Given the description of an element on the screen output the (x, y) to click on. 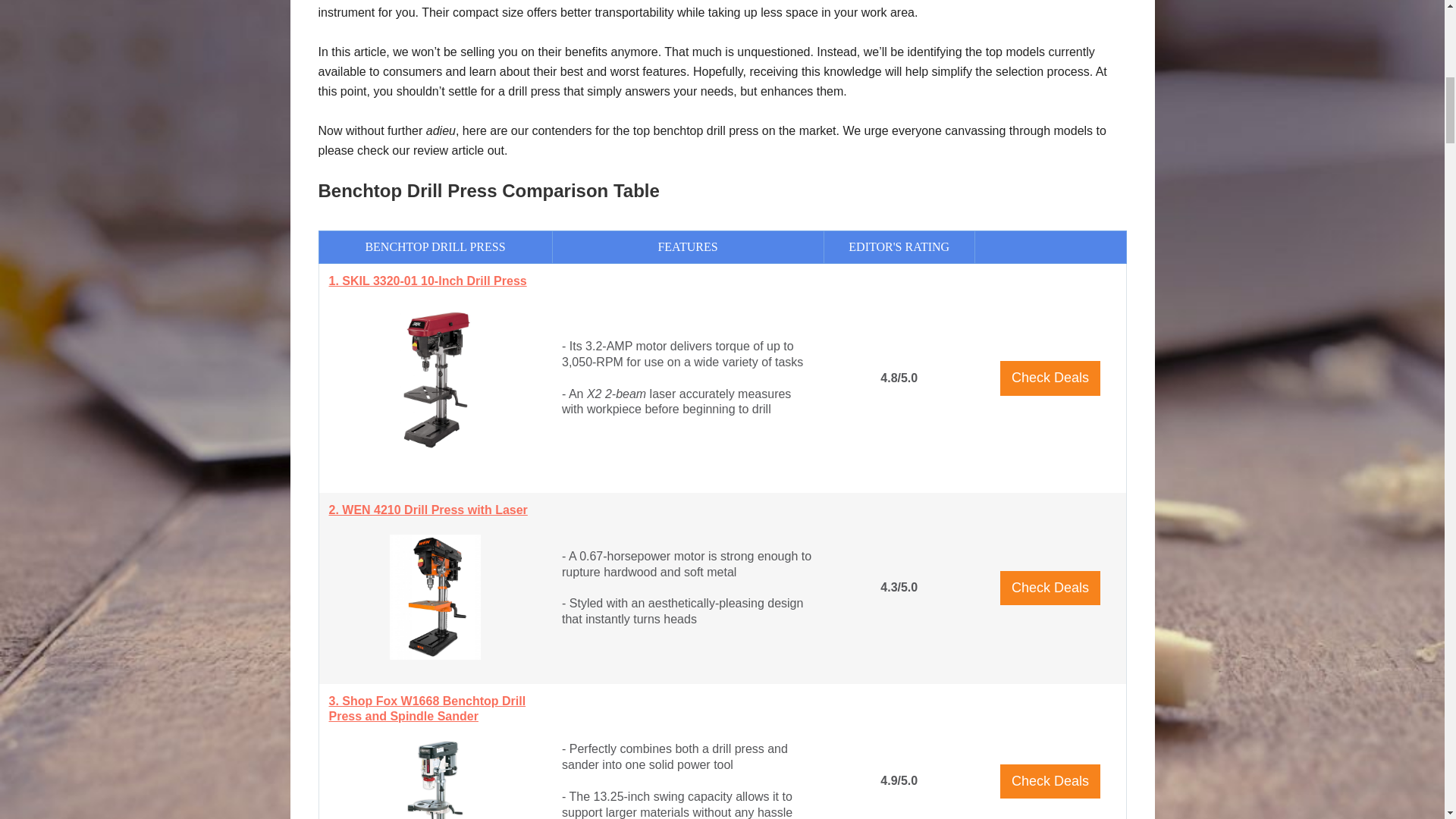
Shop Fox W1668 3:4 HP Bench-Top Oscillating Drill Press (435, 780)
